Given the description of an element on the screen output the (x, y) to click on. 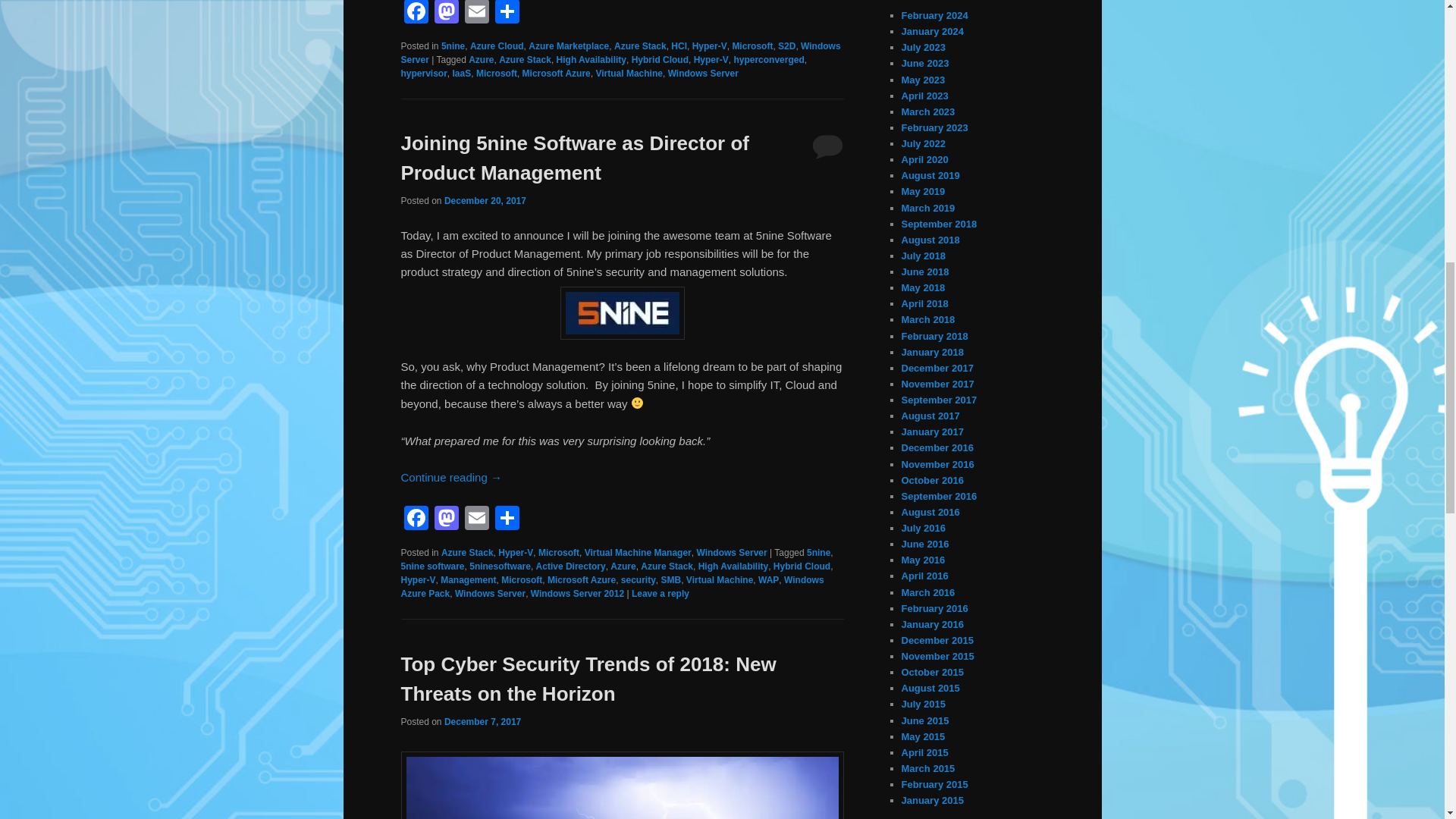
Email (476, 519)
10:25 am (482, 721)
Facebook (415, 519)
Facebook (415, 13)
2:05 pm (484, 200)
Email (476, 13)
Mastodon (445, 519)
Mastodon (445, 13)
